Given the description of an element on the screen output the (x, y) to click on. 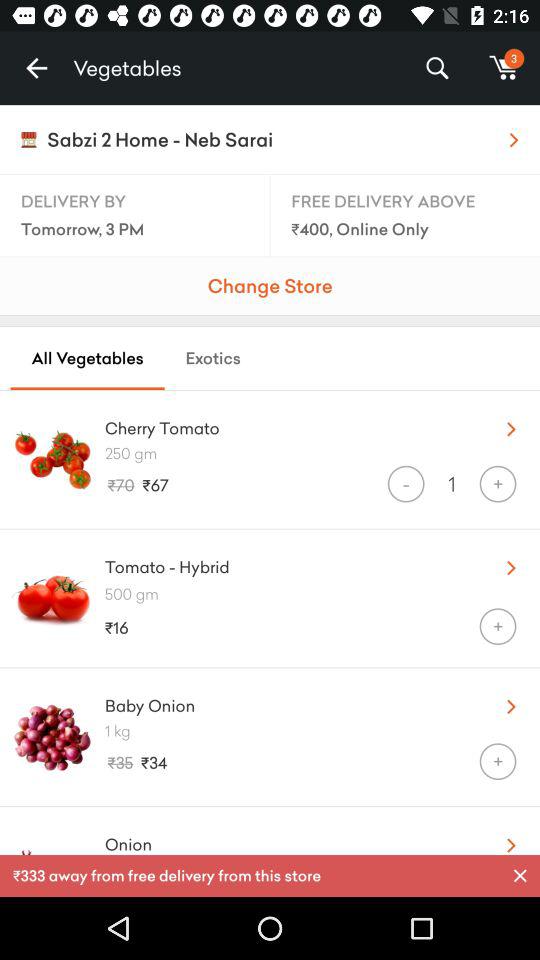
press item to the left of the 1 (405, 483)
